Given the description of an element on the screen output the (x, y) to click on. 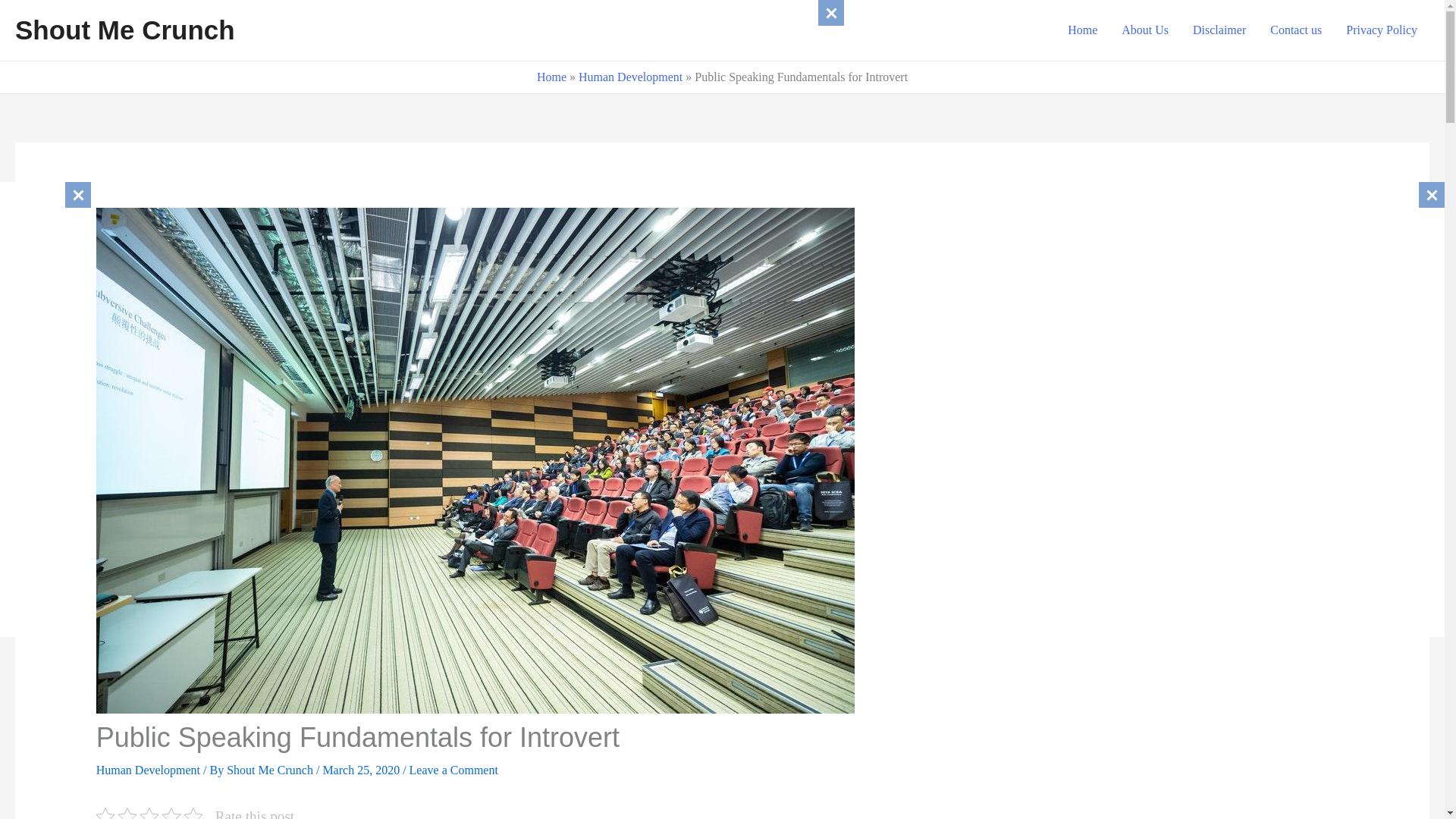
Human Development (148, 769)
View all posts by Shout Me Crunch (271, 769)
Shout Me Crunch (271, 769)
Disclaimer (1218, 30)
Human Development (630, 76)
Shout Me Crunch (124, 30)
Home (551, 76)
About Us (1144, 30)
Leave a Comment (453, 769)
Privacy Policy (1381, 30)
